Given the description of an element on the screen output the (x, y) to click on. 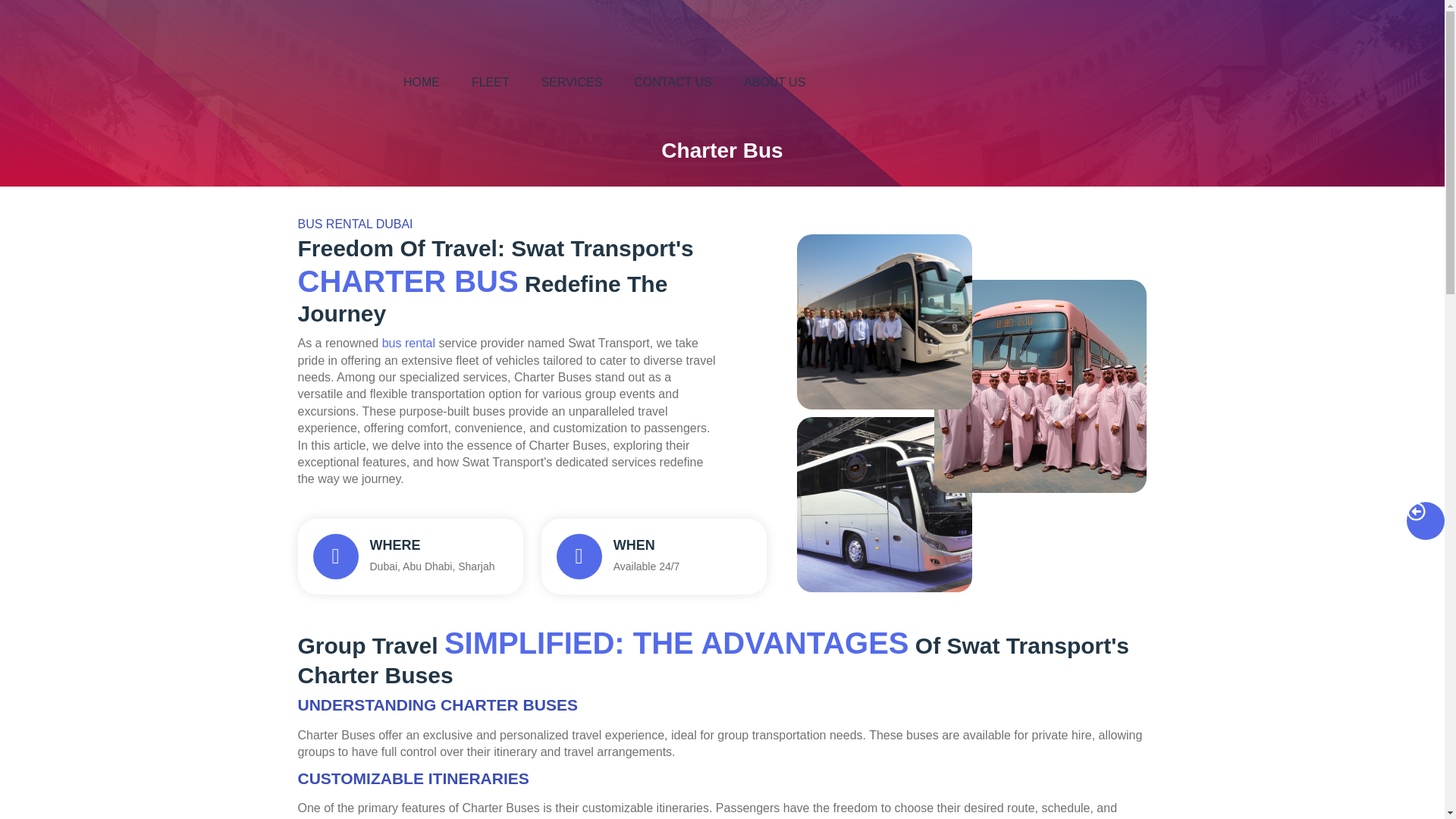
HOME (421, 82)
FLEET (490, 82)
ABOUT US (774, 82)
BOOK NOW (1301, 82)
bus rental (408, 342)
SERVICES (571, 82)
CONTACT US (409, 556)
